Given the description of an element on the screen output the (x, y) to click on. 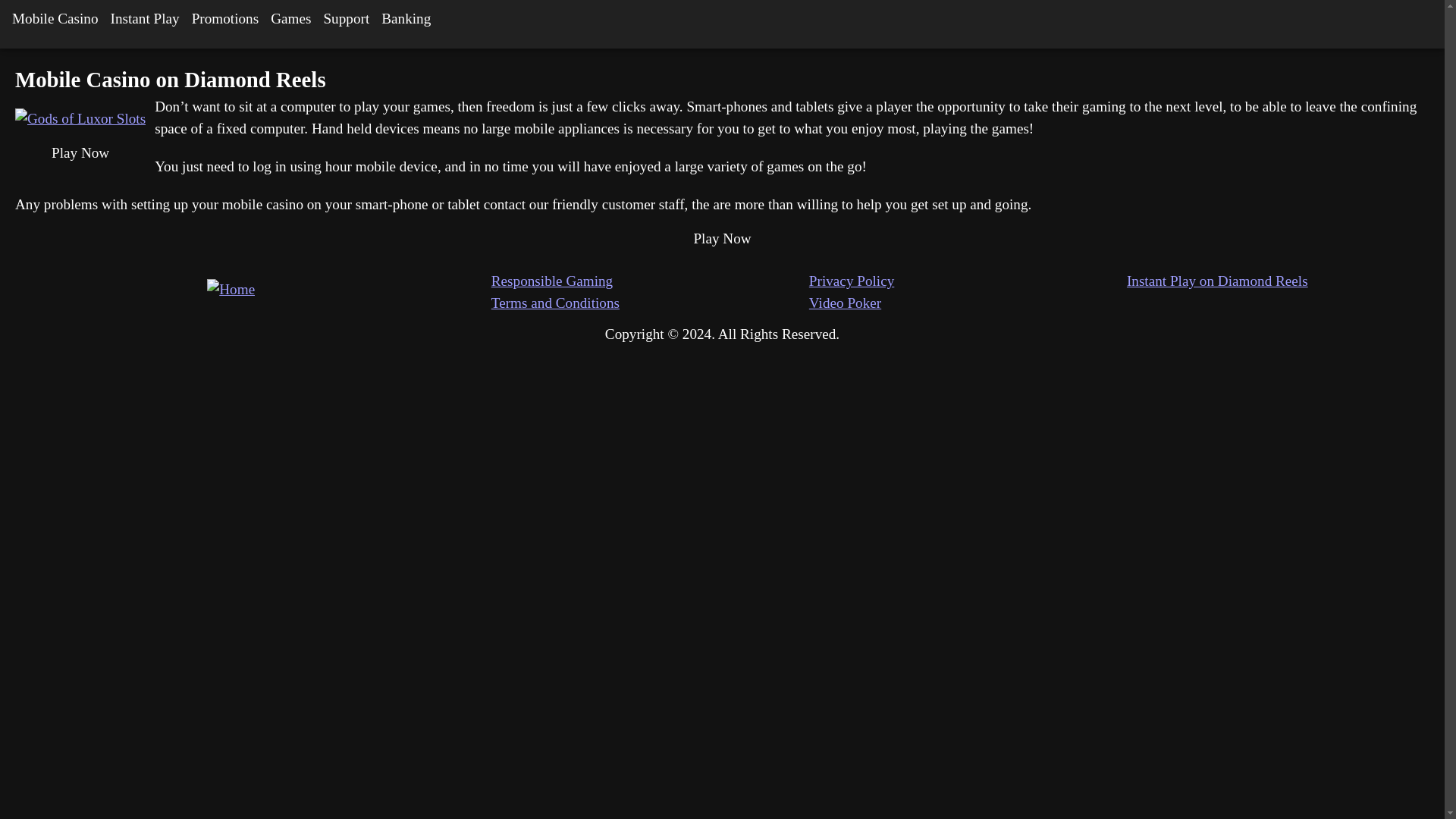
Promotions (225, 18)
Privacy Policy (967, 281)
Mobile Casino (54, 18)
Responsible Gaming (650, 281)
Video Poker (967, 303)
Terms and Conditions (650, 303)
Banking (405, 18)
Play Now (722, 238)
Support (346, 18)
Instant Play (145, 18)
